Given the description of an element on the screen output the (x, y) to click on. 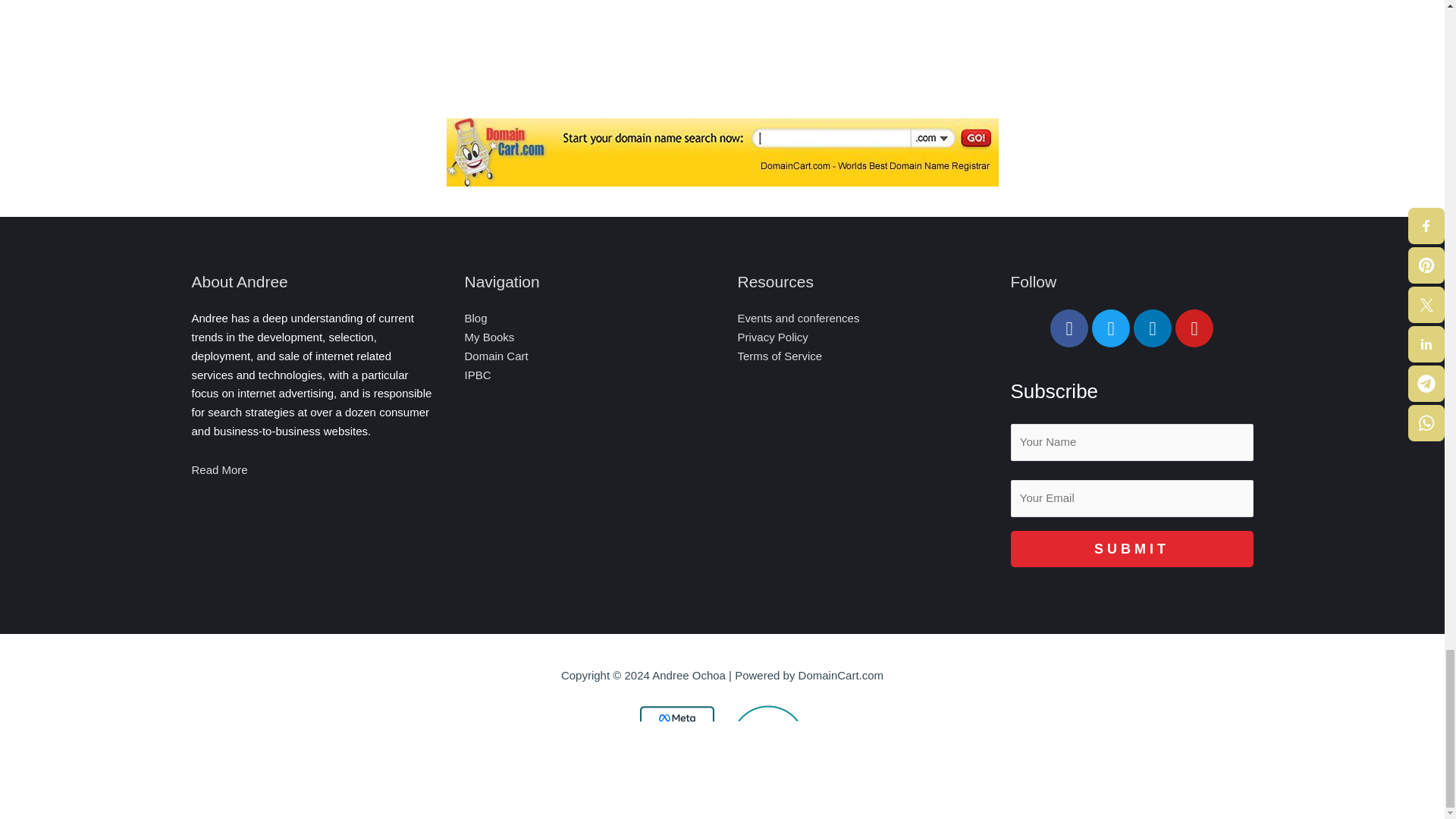
Submit (1131, 548)
